Given the description of an element on the screen output the (x, y) to click on. 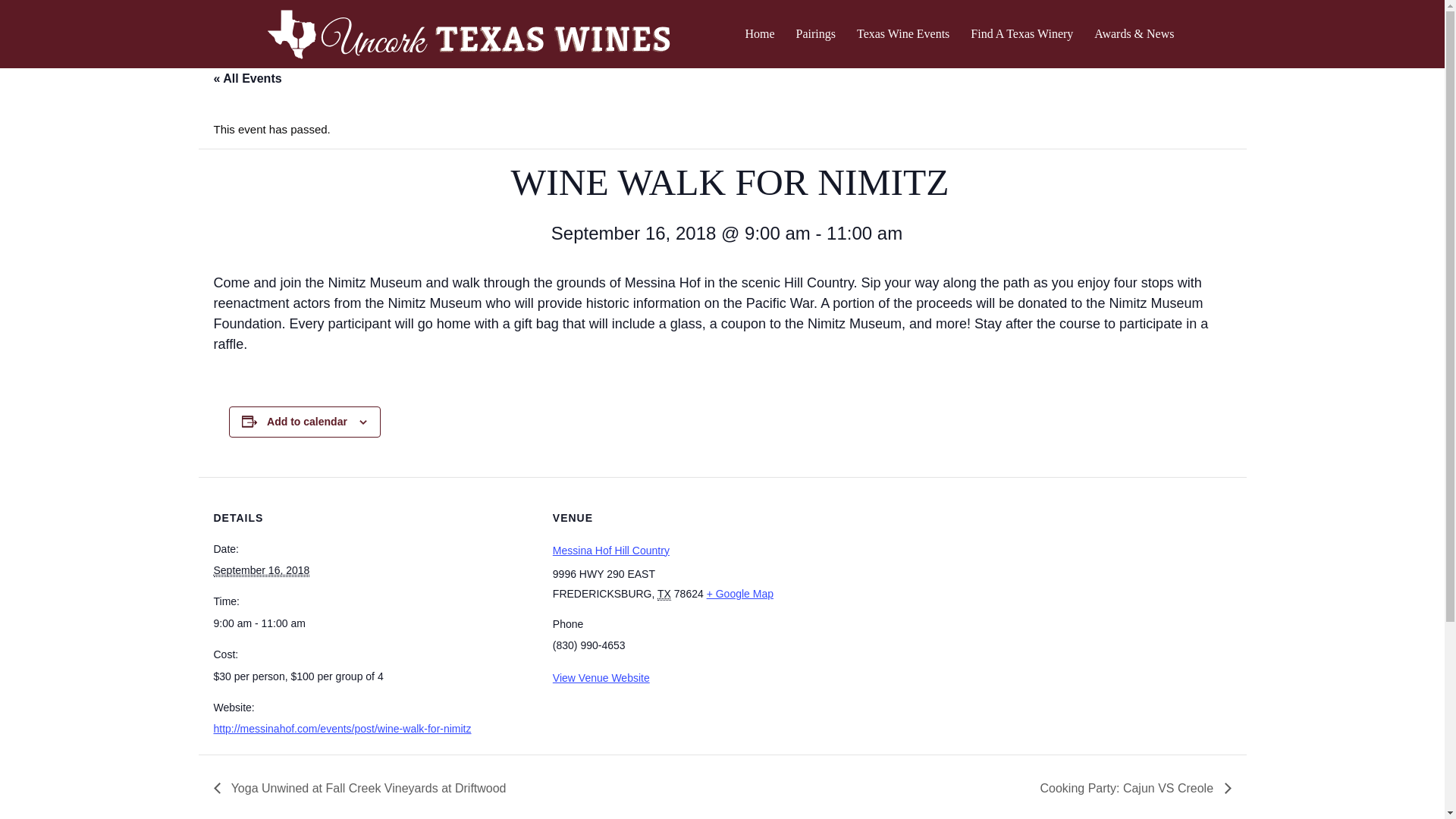
Cooking Party: Cajun VS Creole (1130, 787)
Pairings (815, 33)
Find A Texas Winery (1021, 33)
2018-09-16 (262, 570)
Messina Hof Hill Country (611, 550)
Click to view a Google Map (739, 593)
Texas (664, 594)
Yoga Unwined at Fall Creek Vineyards at Driftwood (364, 787)
View Venue Website (601, 677)
Add to calendar (306, 421)
2018-09-16 (374, 623)
Texas Wine Events (902, 33)
